Given the description of an element on the screen output the (x, y) to click on. 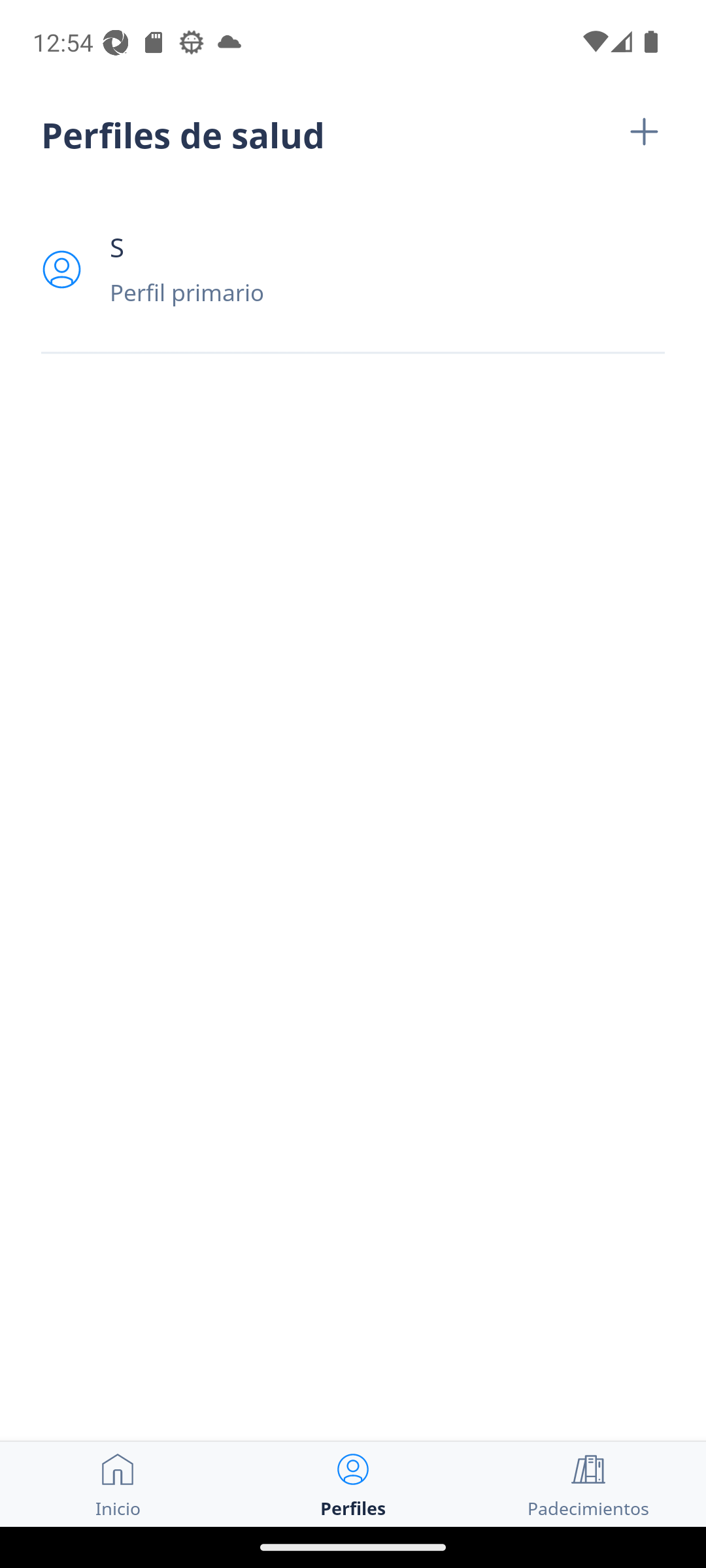
S Perfil primario (352, 269)
Inicio (117, 1484)
Perfiles (352, 1484)
Padecimientos (588, 1484)
